Given the description of an element on the screen output the (x, y) to click on. 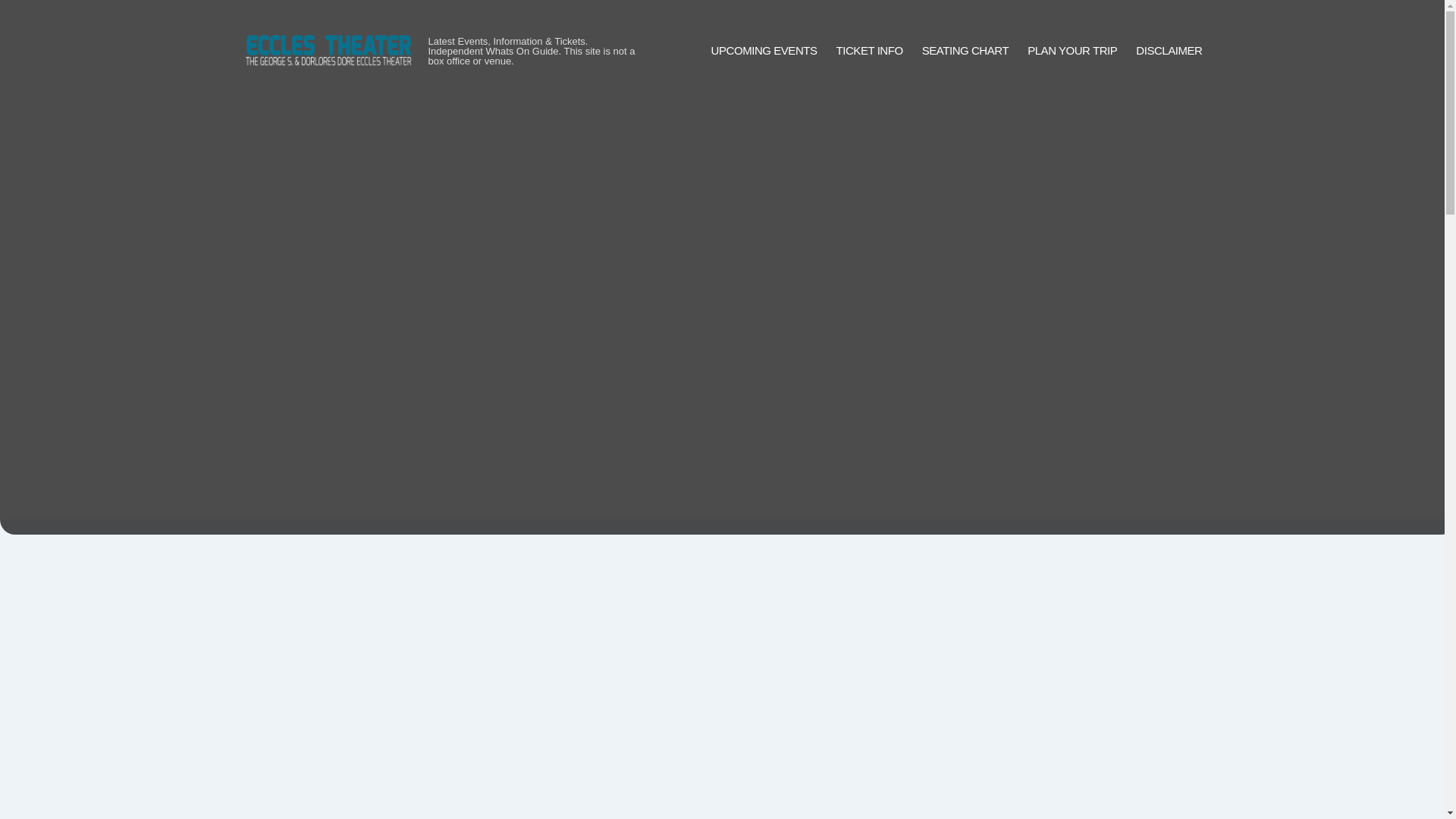
SEATING CHART (965, 50)
PLAN YOUR TRIP (1071, 50)
DISCLAIMER (1168, 50)
UPCOMING EVENTS (763, 50)
TICKET INFO (868, 50)
